Given the description of an element on the screen output the (x, y) to click on. 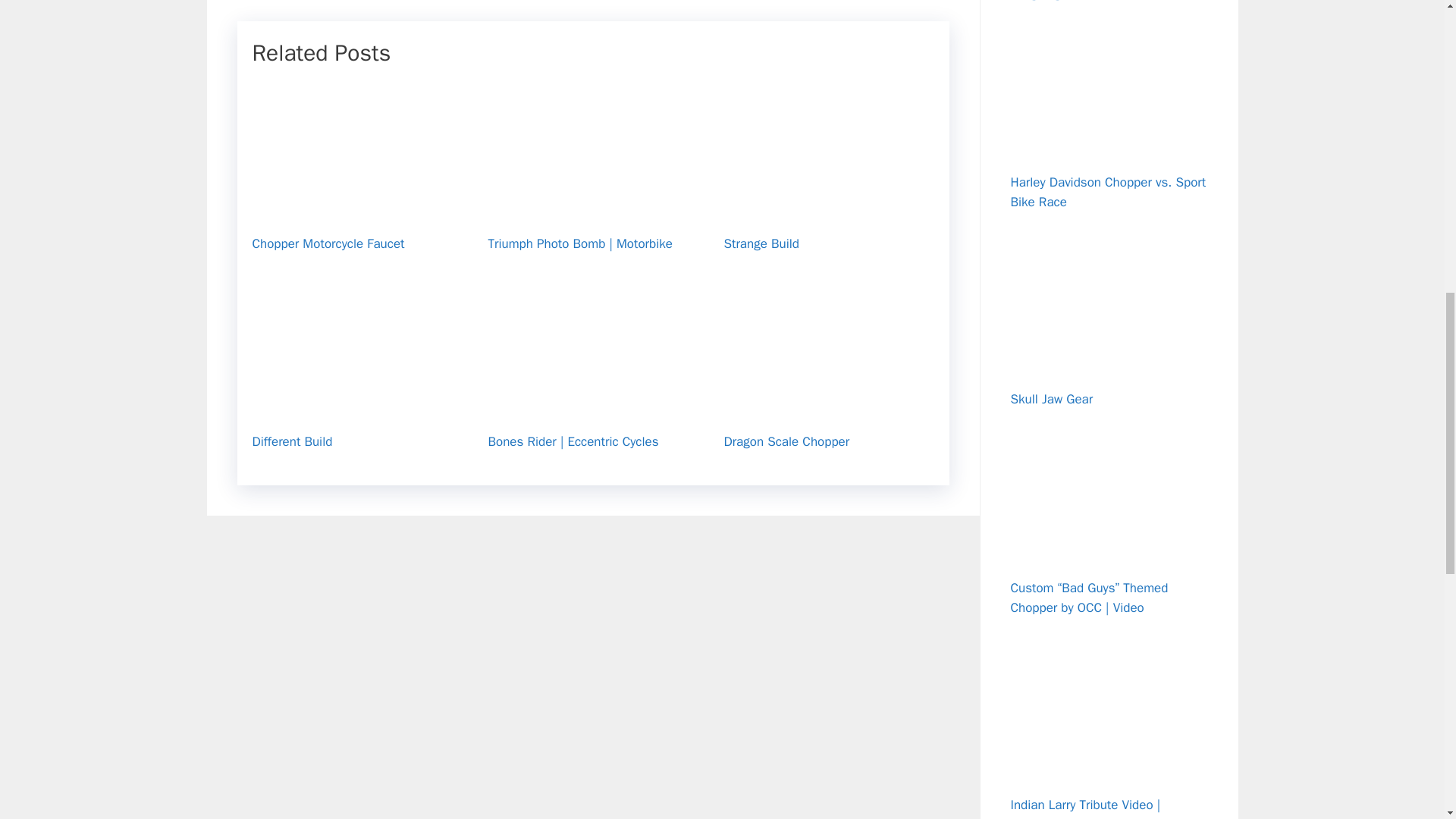
Harley Davidson Chopper vs. Sport Bike Race (1107, 191)
Chopper Motorcycle Faucet (327, 243)
Strange Build (828, 211)
Different Build (291, 441)
Skull Jaw Gear (1051, 399)
Different Build (356, 409)
Strange Build (760, 243)
Dragon Scale Chopper (785, 441)
Chopper Motorcycle Faucet (356, 211)
